Given the description of an element on the screen output the (x, y) to click on. 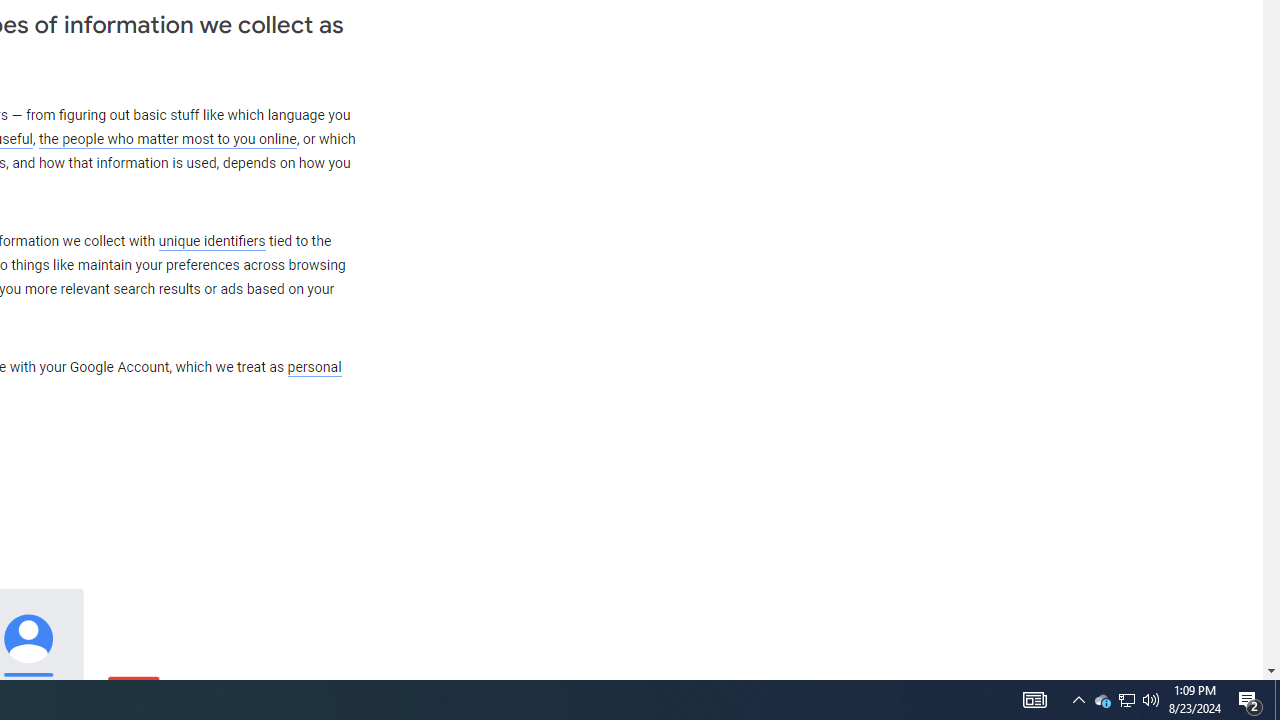
the people who matter most to you online (167, 139)
unique identifiers (211, 241)
